Given the description of an element on the screen output the (x, y) to click on. 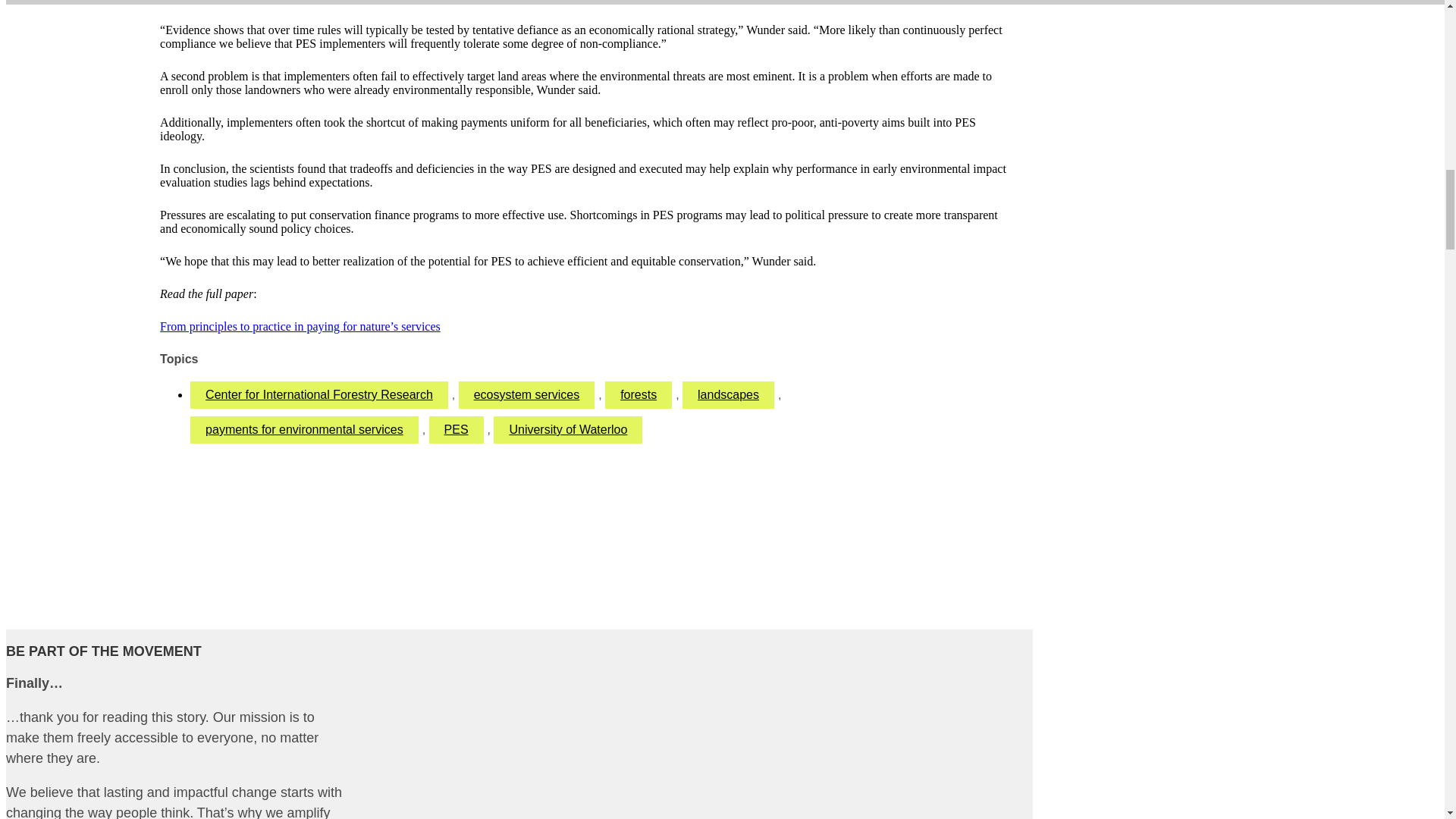
ecosystem services (526, 394)
landscapes (728, 394)
payments for environmental services (304, 429)
Center for International Forestry Research (319, 394)
forests (638, 394)
PES (456, 429)
University of Waterloo (567, 429)
